Given the description of an element on the screen output the (x, y) to click on. 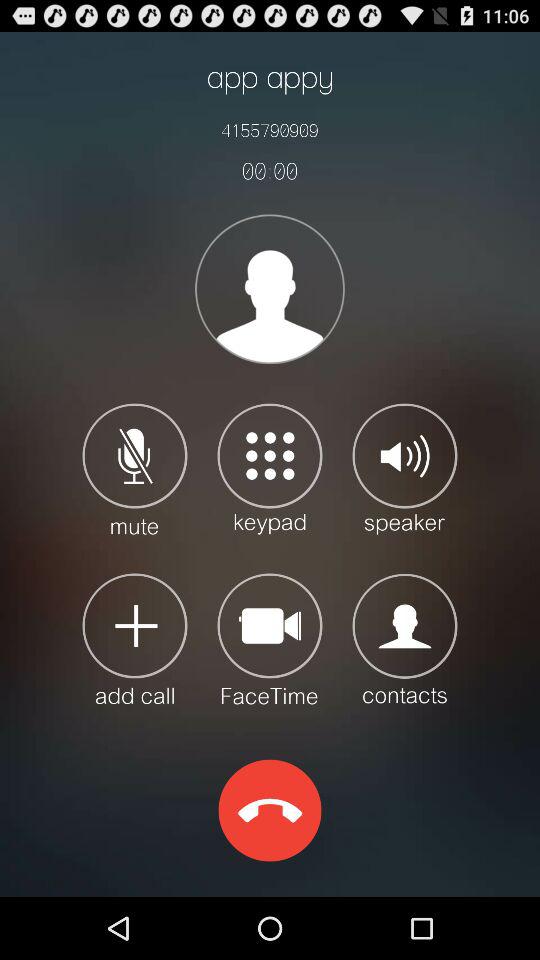
add call (134, 638)
